Given the description of an element on the screen output the (x, y) to click on. 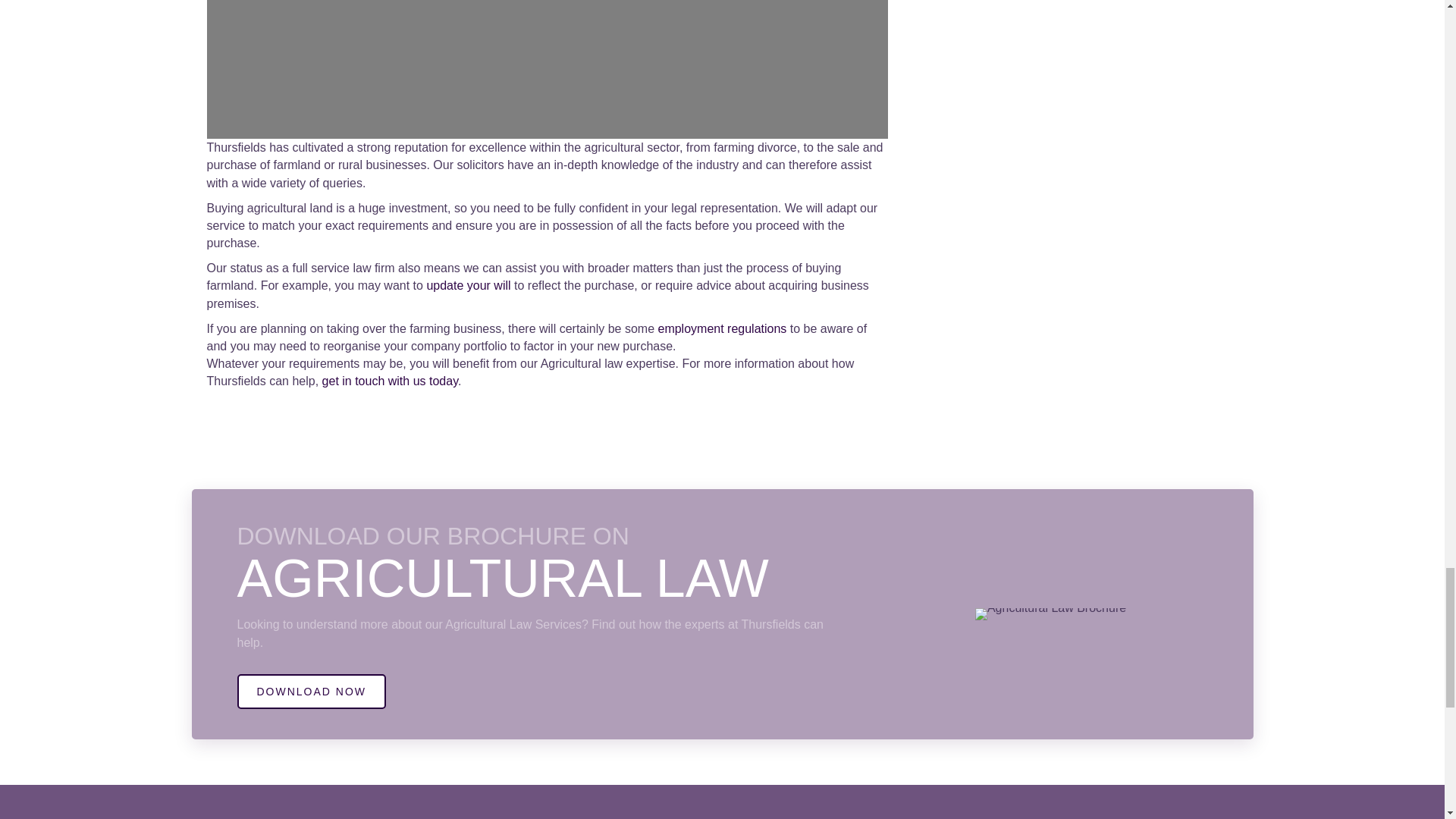
Agricultural Law Brochure (1050, 613)
